Given the description of an element on the screen output the (x, y) to click on. 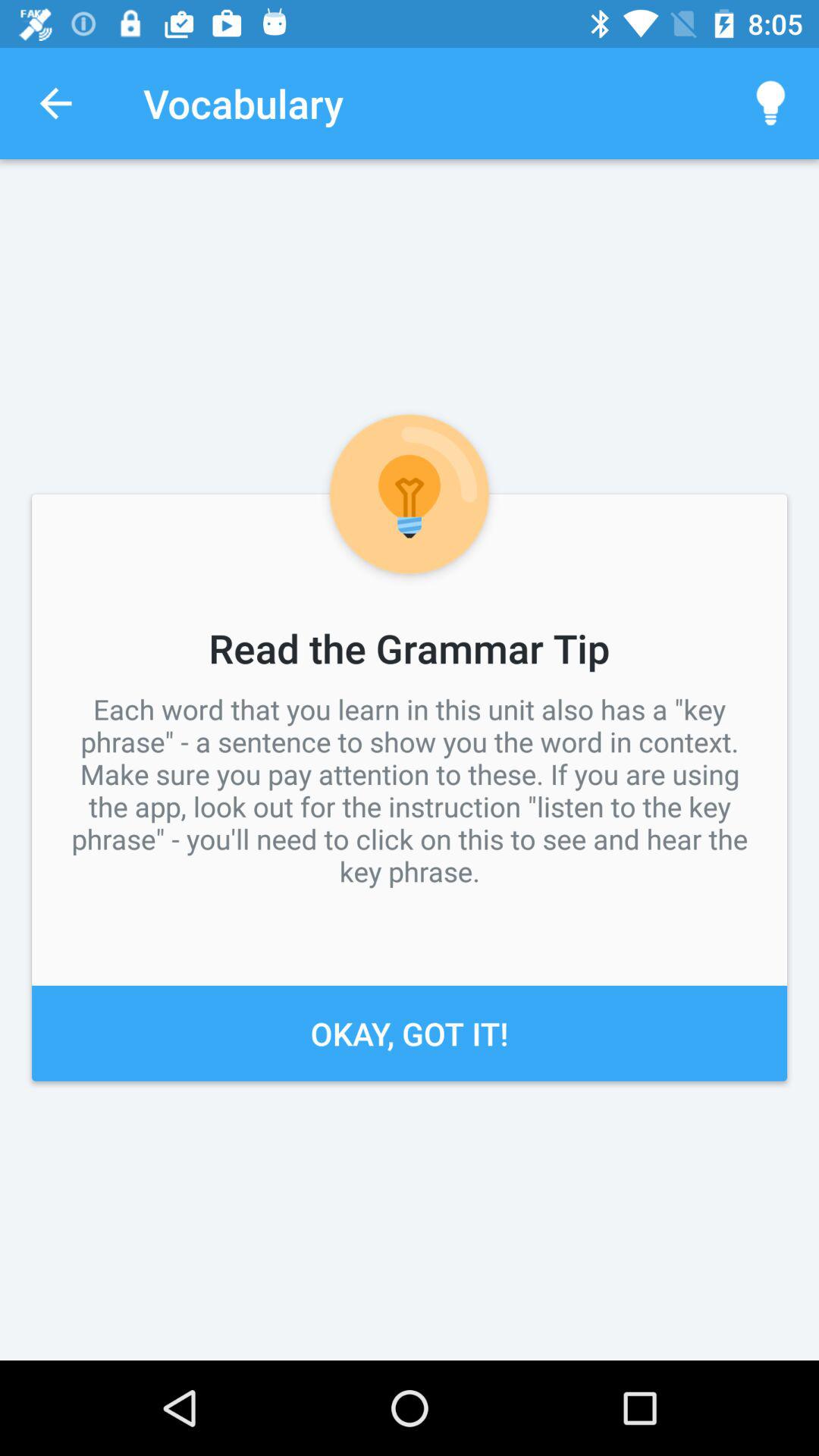
choose icon above each word that icon (55, 103)
